Given the description of an element on the screen output the (x, y) to click on. 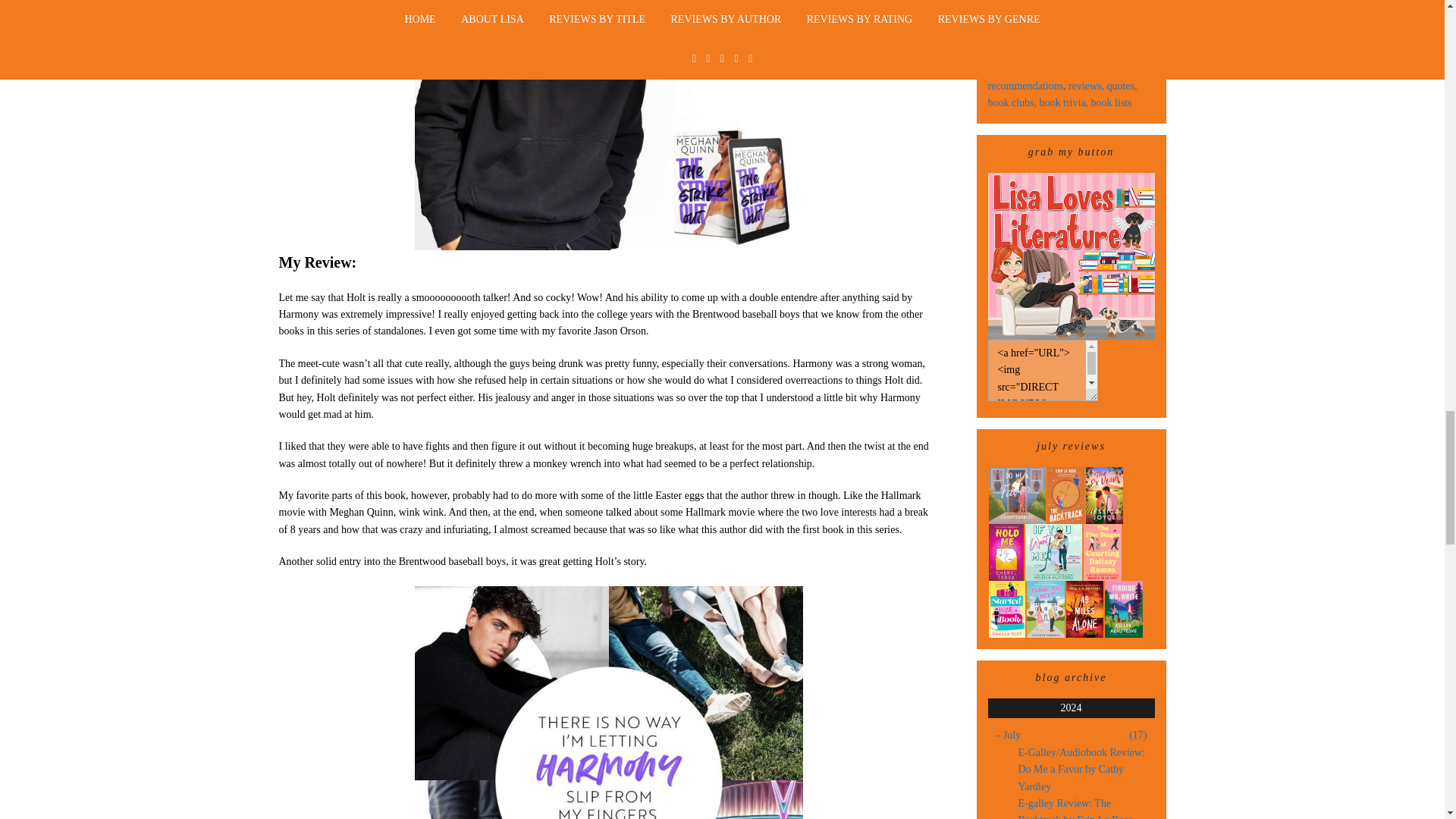
Lisa Loves Literature (1070, 255)
